Given the description of an element on the screen output the (x, y) to click on. 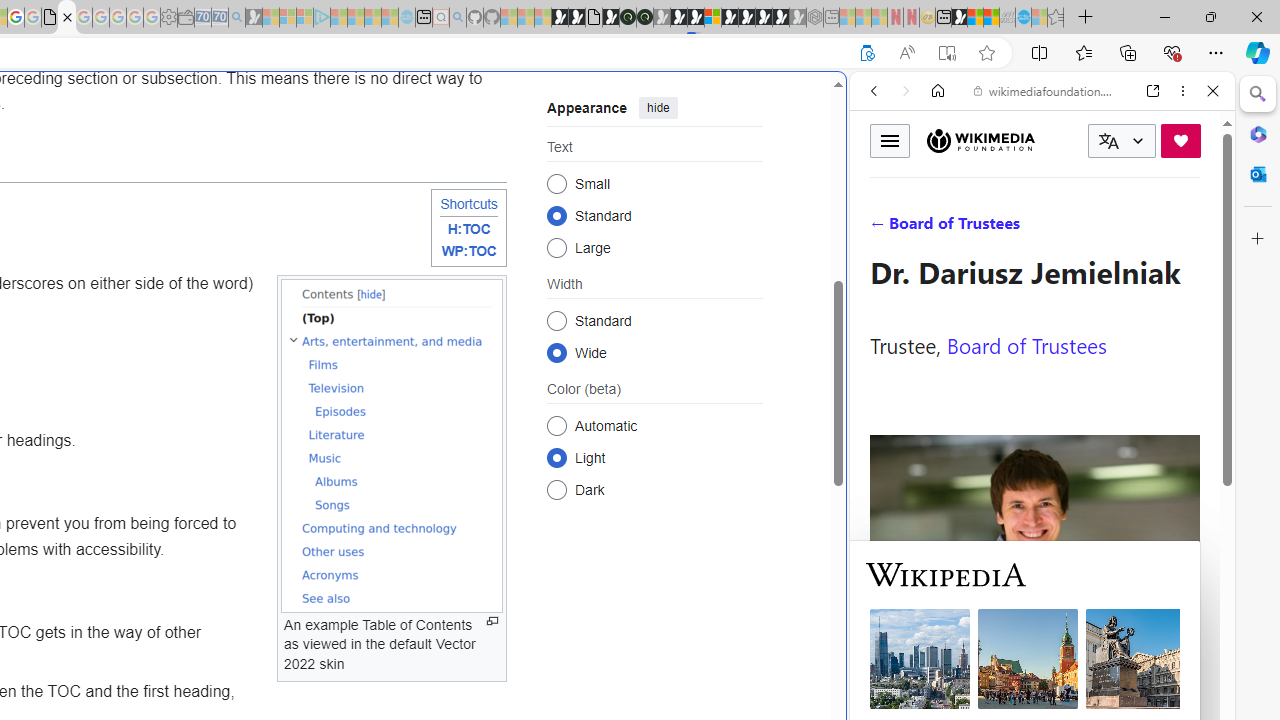
Search Filter, Search Tools (1093, 228)
Search Filter, VIDEOS (1006, 228)
Class: mw-list-item mw-list-item-js (654, 457)
Bing Real Estate - Home sales and rental listings - Sleeping (236, 17)
World - MSN (975, 17)
Play Cave FRVR in your browser | Games from Microsoft Start (678, 17)
Donate now (1180, 140)
